Given the description of an element on the screen output the (x, y) to click on. 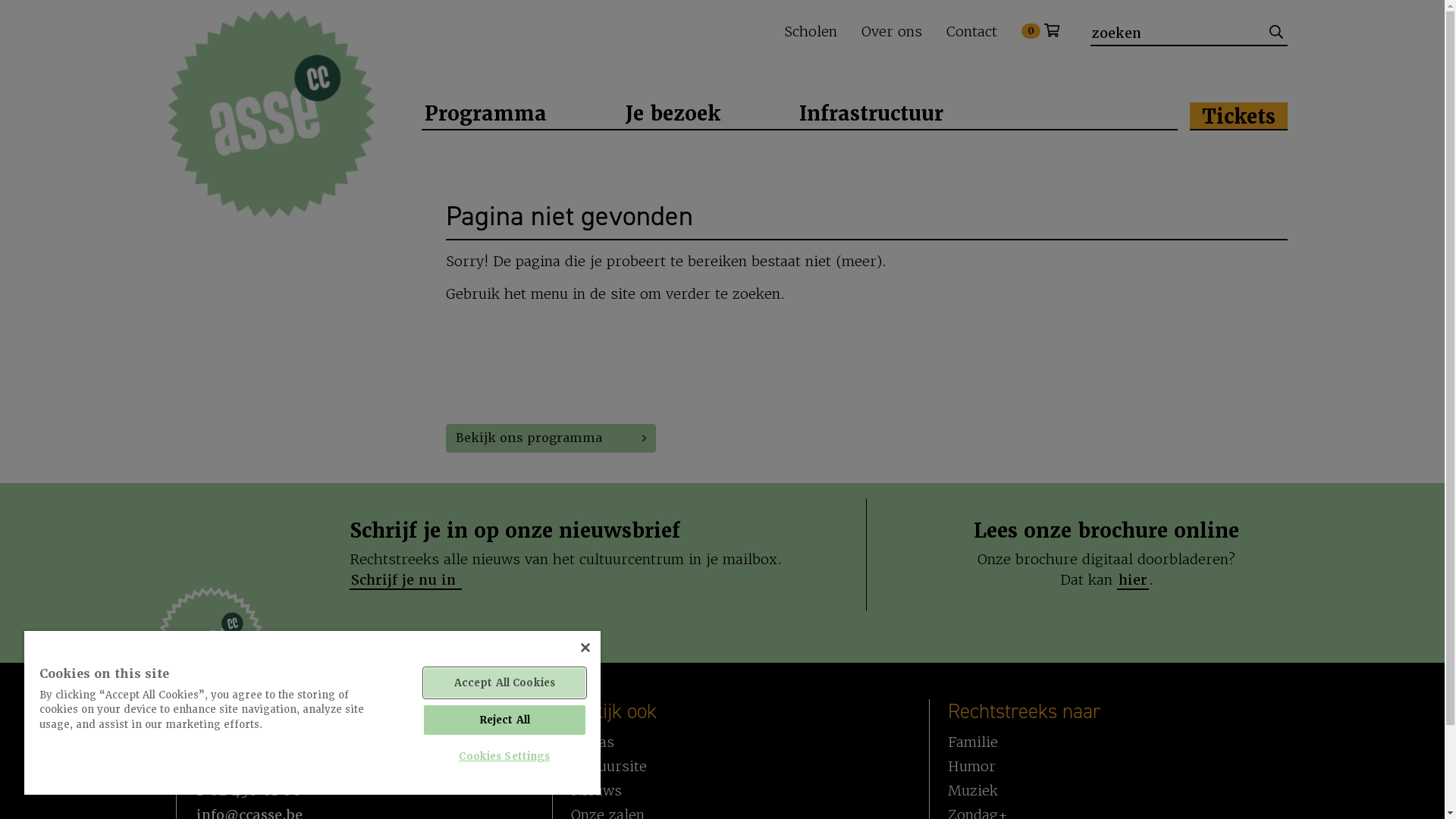
Uitpas Element type: text (592, 742)
hier Element type: text (1132, 579)
Scholen Element type: text (810, 31)
Cookies Settings Element type: text (504, 756)
Overslaan en naar de inhoud gaan Element type: text (721, 1)
0 Element type: text (1040, 30)
Nieuws Element type: text (596, 790)
Familie Element type: text (972, 742)
Reject All Element type: text (504, 719)
Cultuursite Element type: text (608, 766)
Je bezoek Element type: text (671, 112)
Programma Element type: text (485, 112)
Contact Element type: text (971, 31)
Infrastructuur Element type: text (871, 112)
Accept All Cookies Element type: text (504, 682)
Humor Element type: text (971, 766)
Tickets Element type: text (1237, 115)
Muziek Element type: text (972, 790)
Schrijf je nu in  Element type: text (405, 579)
Over ons Element type: text (891, 31)
Bekijk ons programma Element type: text (550, 437)
